Given the description of an element on the screen output the (x, y) to click on. 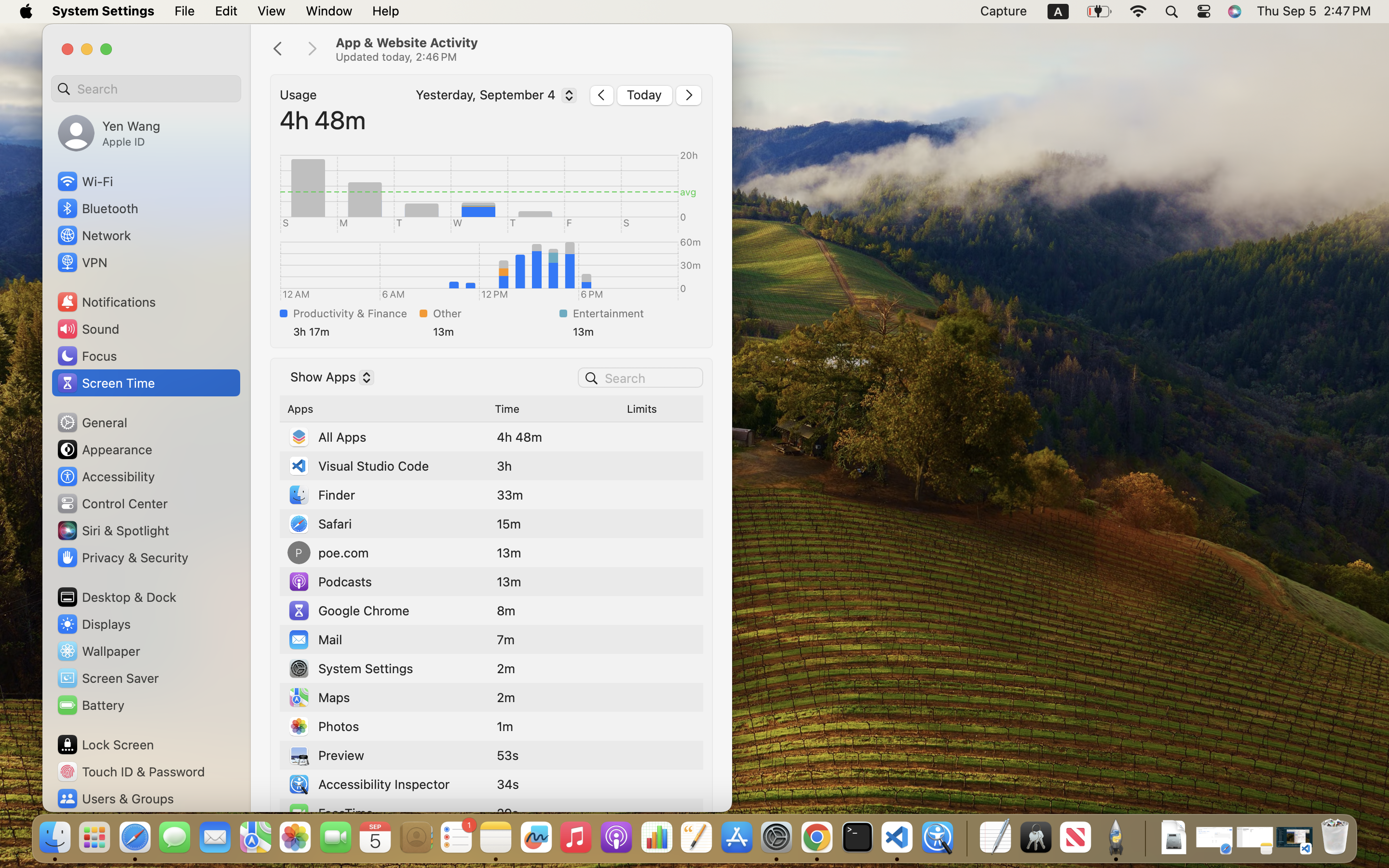
Notifications Element type: AXStaticText (105, 301)
Desktop & Dock Element type: AXStaticText (115, 596)
Podcasts Element type: AXStaticText (329, 581)
Network Element type: AXStaticText (93, 234)
Productivity & Finance Element type: AXStaticText (354, 313)
